Given the description of an element on the screen output the (x, y) to click on. 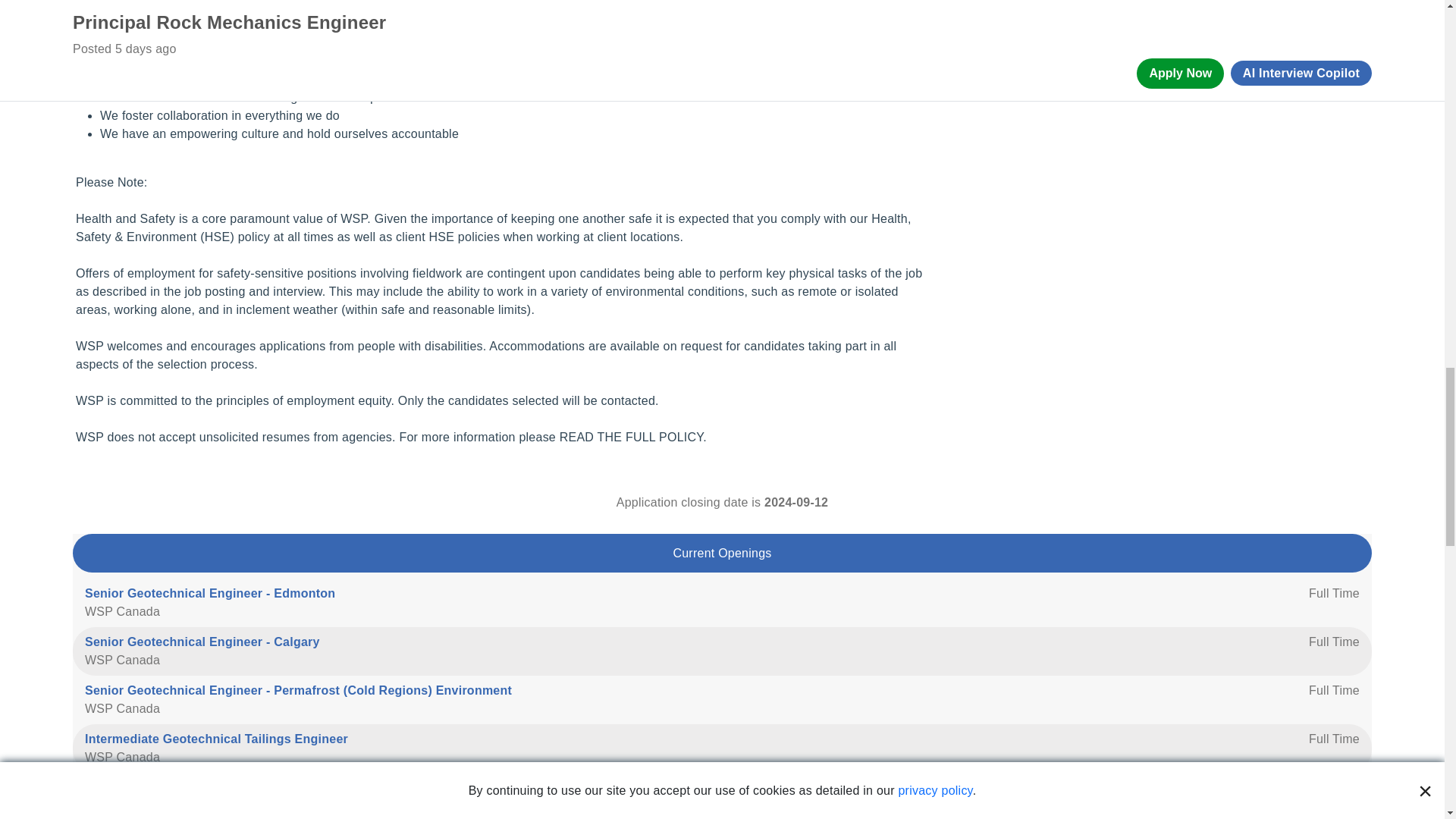
Intermediate Geotechnical Tailings Engineer (215, 738)
Senior Geotechnical Engineer - Edmonton (209, 593)
Senior Geotechnical Engineer - Calgary (202, 641)
Intermediate Geotechnical Engineer (191, 787)
